Given the description of an element on the screen output the (x, y) to click on. 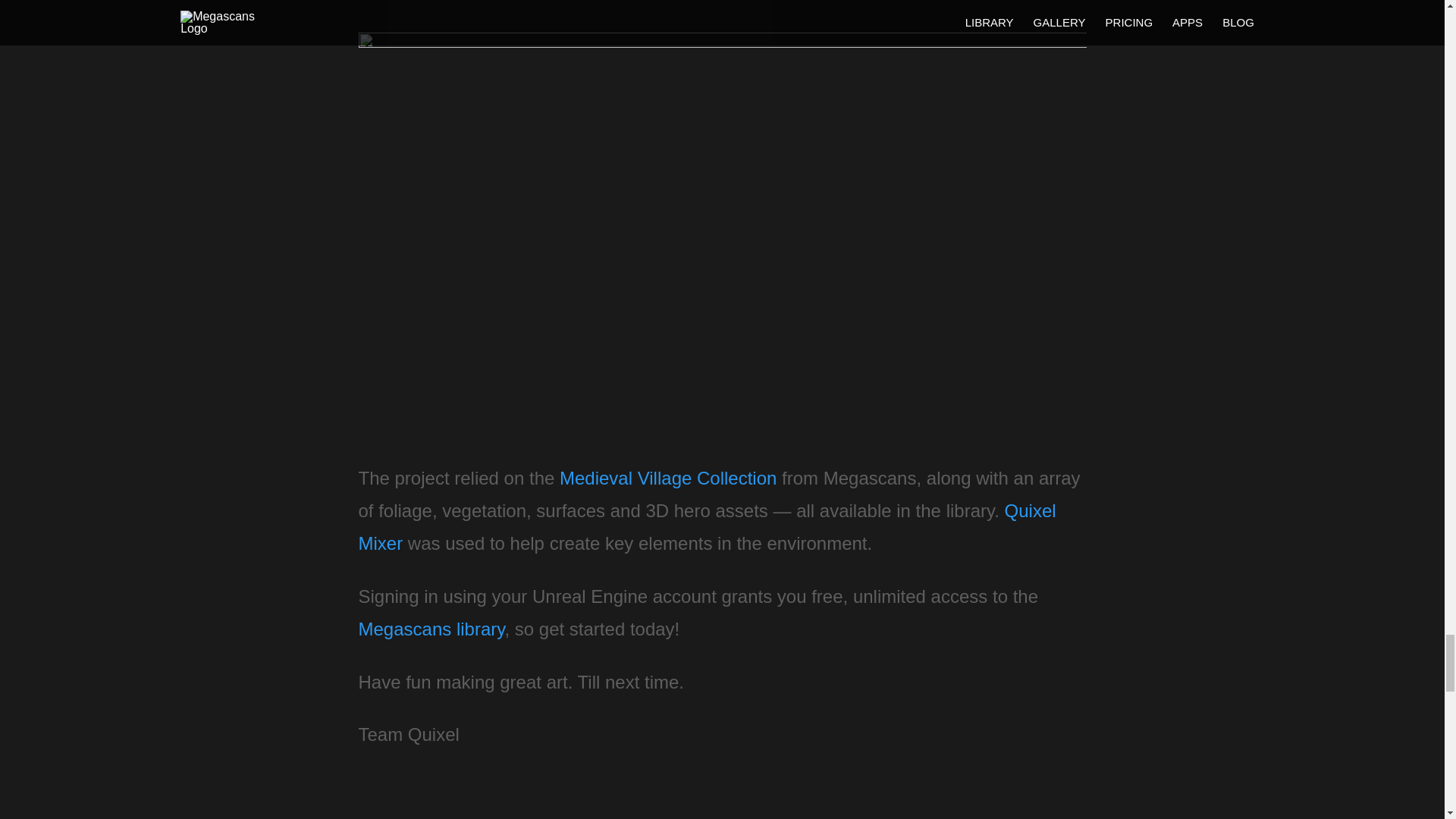
Quixel Mixer (706, 526)
Medieval Village Collection (667, 477)
Megascans library (430, 629)
